Given the description of an element on the screen output the (x, y) to click on. 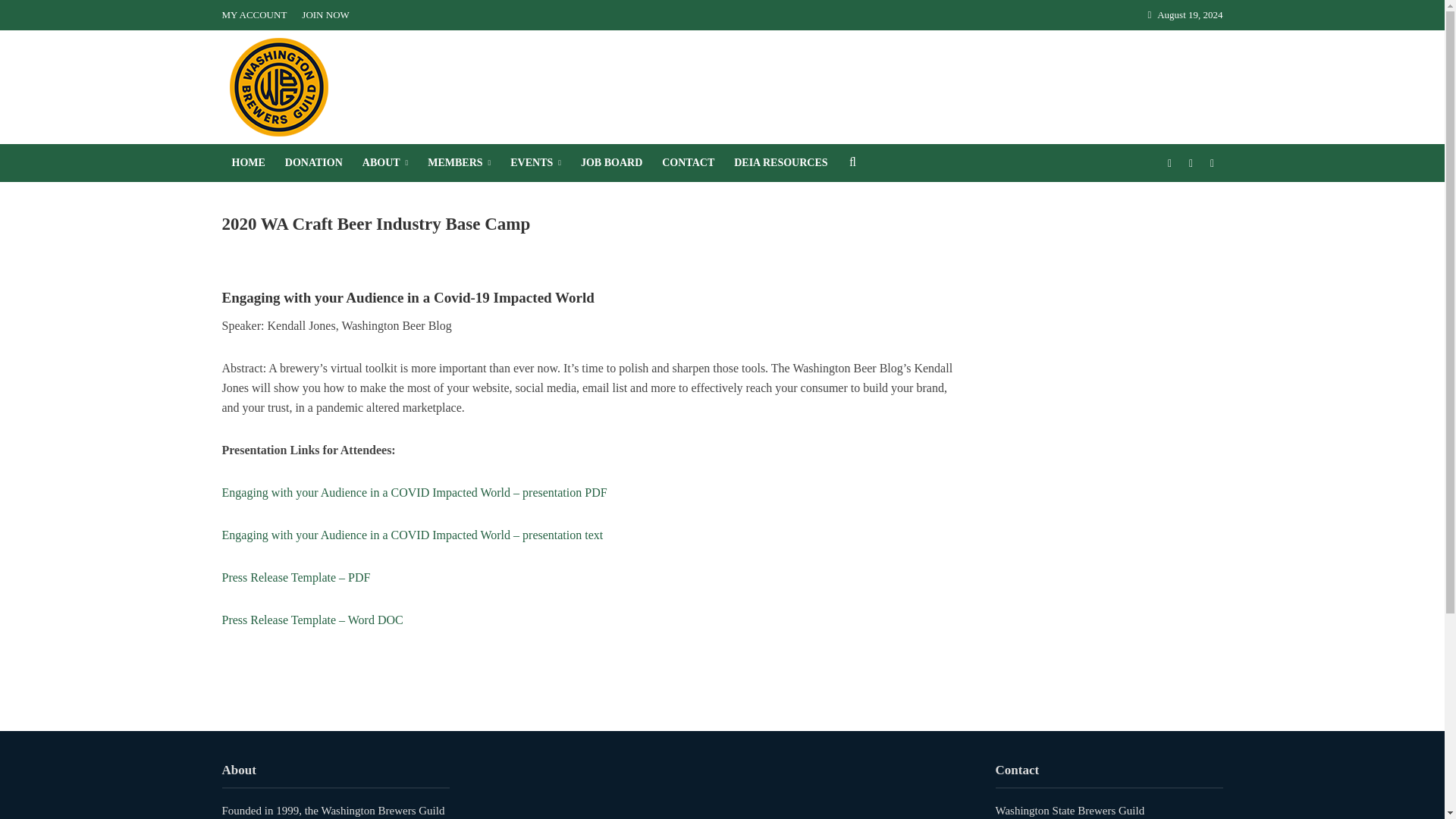
MEMBERS (458, 162)
DONATION (313, 162)
HOME (248, 162)
ABOUT (384, 162)
JOIN NOW (325, 15)
DEIA RESOURCES (780, 162)
MY ACCOUNT (257, 15)
CONTACT (687, 162)
EVENTS (535, 162)
JOB BOARD (611, 162)
